Given the description of an element on the screen output the (x, y) to click on. 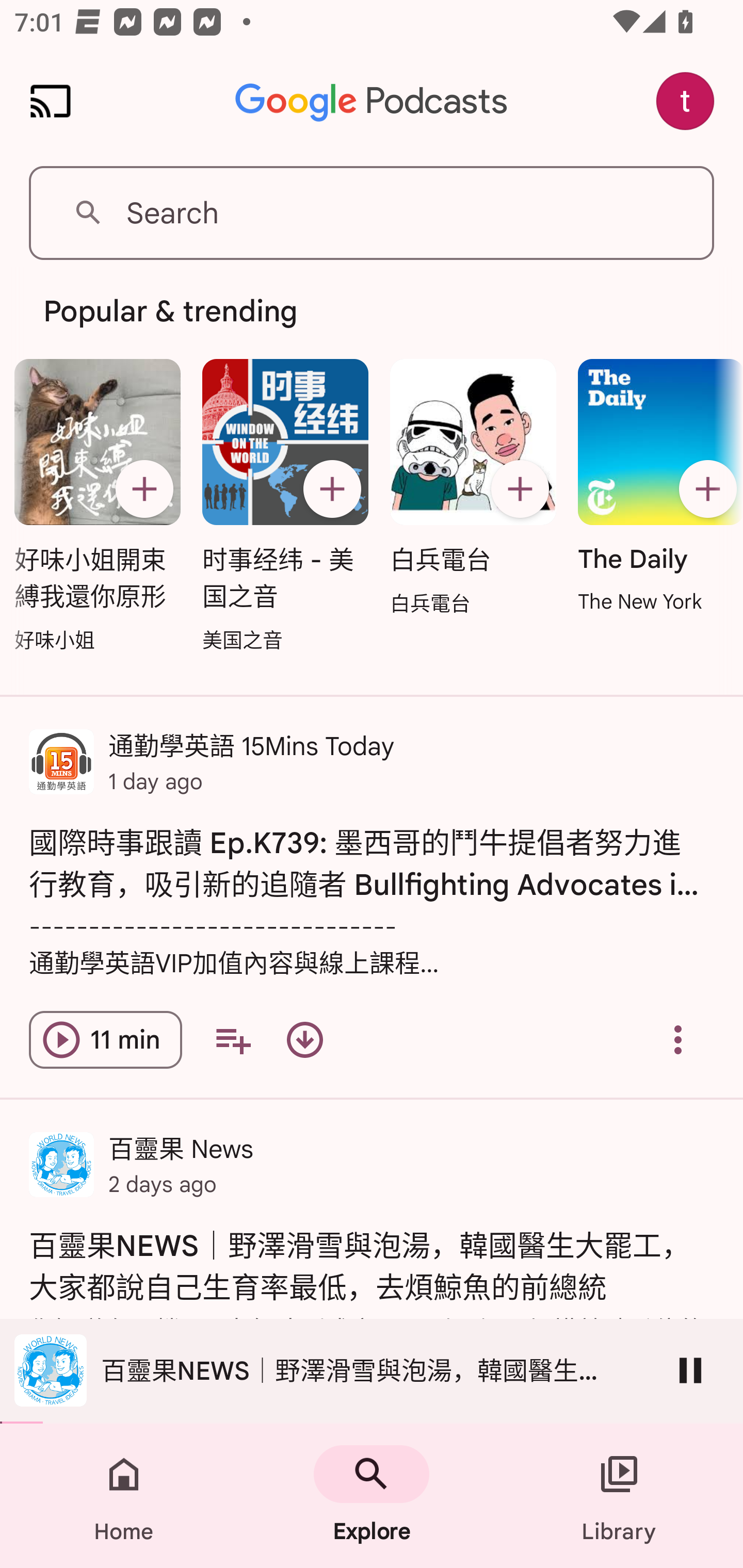
Cast. Disconnected (50, 101)
Search (371, 212)
好味小姐開束縛我還你原形 Subscribe 好味小姐開束縛我還你原形 好味小姐 (97, 507)
时事经纬 - 美国之音 Subscribe 时事经纬 - 美国之音 美国之音 (284, 507)
白兵電台 Subscribe 白兵電台 白兵電台 (472, 488)
The Daily Subscribe The Daily The New York Times (654, 487)
Subscribe (144, 489)
Subscribe (332, 489)
Subscribe (519, 489)
Subscribe (707, 489)
Add to your queue (232, 1040)
Download episode (304, 1040)
Overflow menu (677, 1040)
Pause (690, 1370)
Home (123, 1495)
Library (619, 1495)
